Given the description of an element on the screen output the (x, y) to click on. 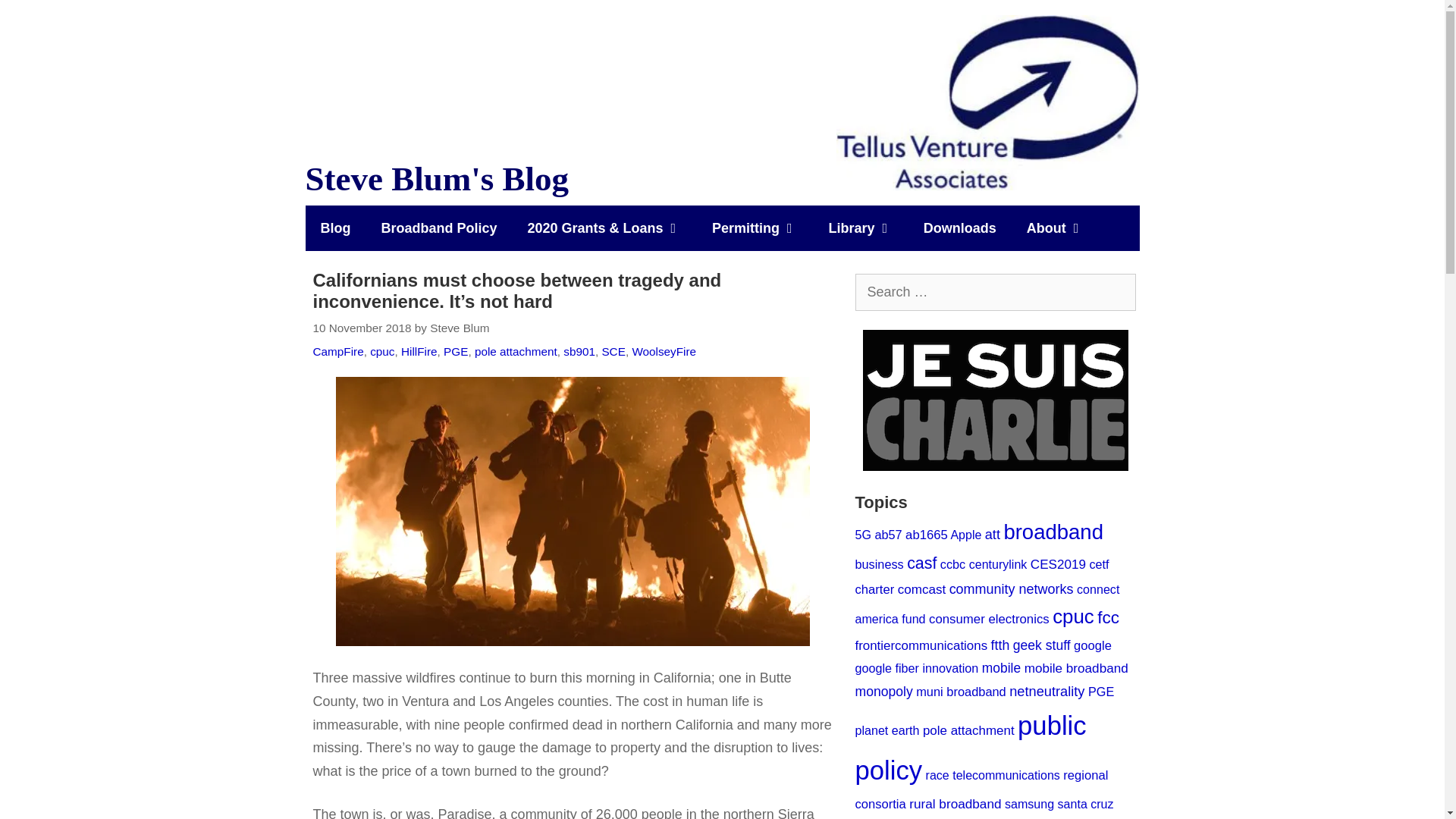
Broadband Policy (438, 227)
71 topics (888, 534)
Search for: (995, 292)
Steve Blum's Blog (986, 101)
Steve Blum's Blog (986, 102)
47 topics (863, 534)
Blog (334, 227)
Je Suis Charlie (995, 400)
